Given the description of an element on the screen output the (x, y) to click on. 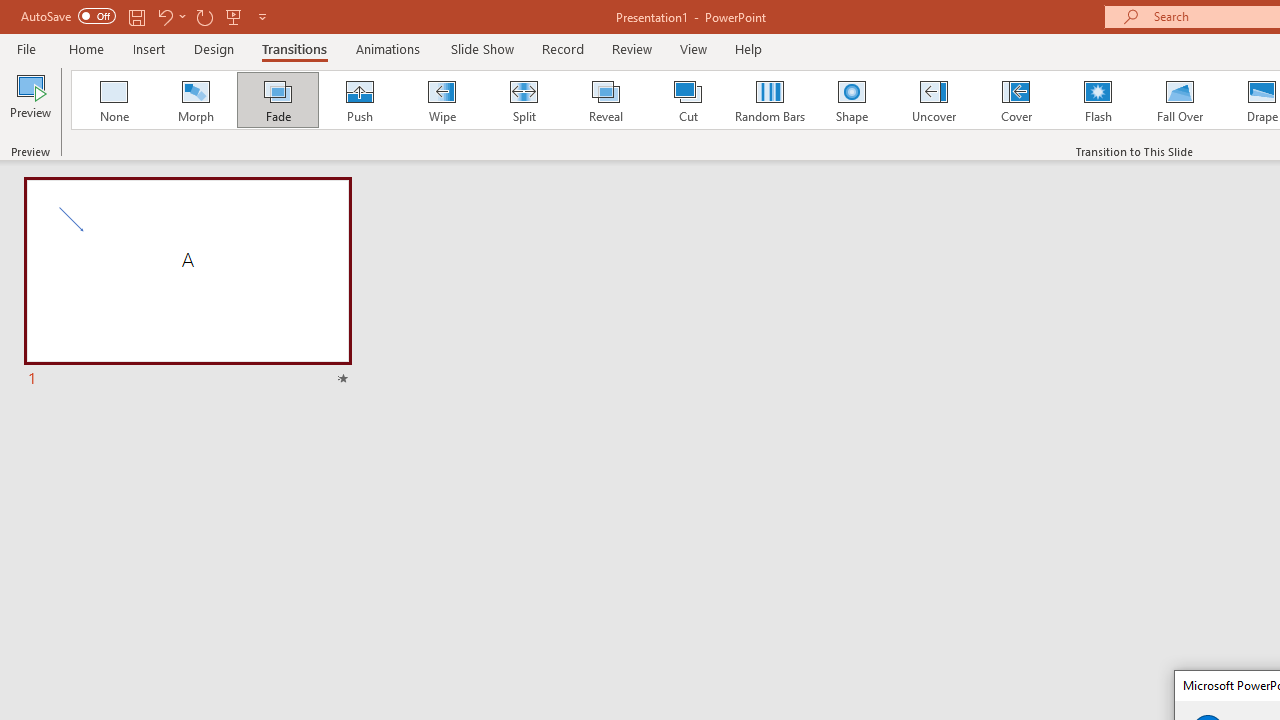
Fall Over (1180, 100)
Reveal (605, 100)
Flash (1098, 100)
